Given the description of an element on the screen output the (x, y) to click on. 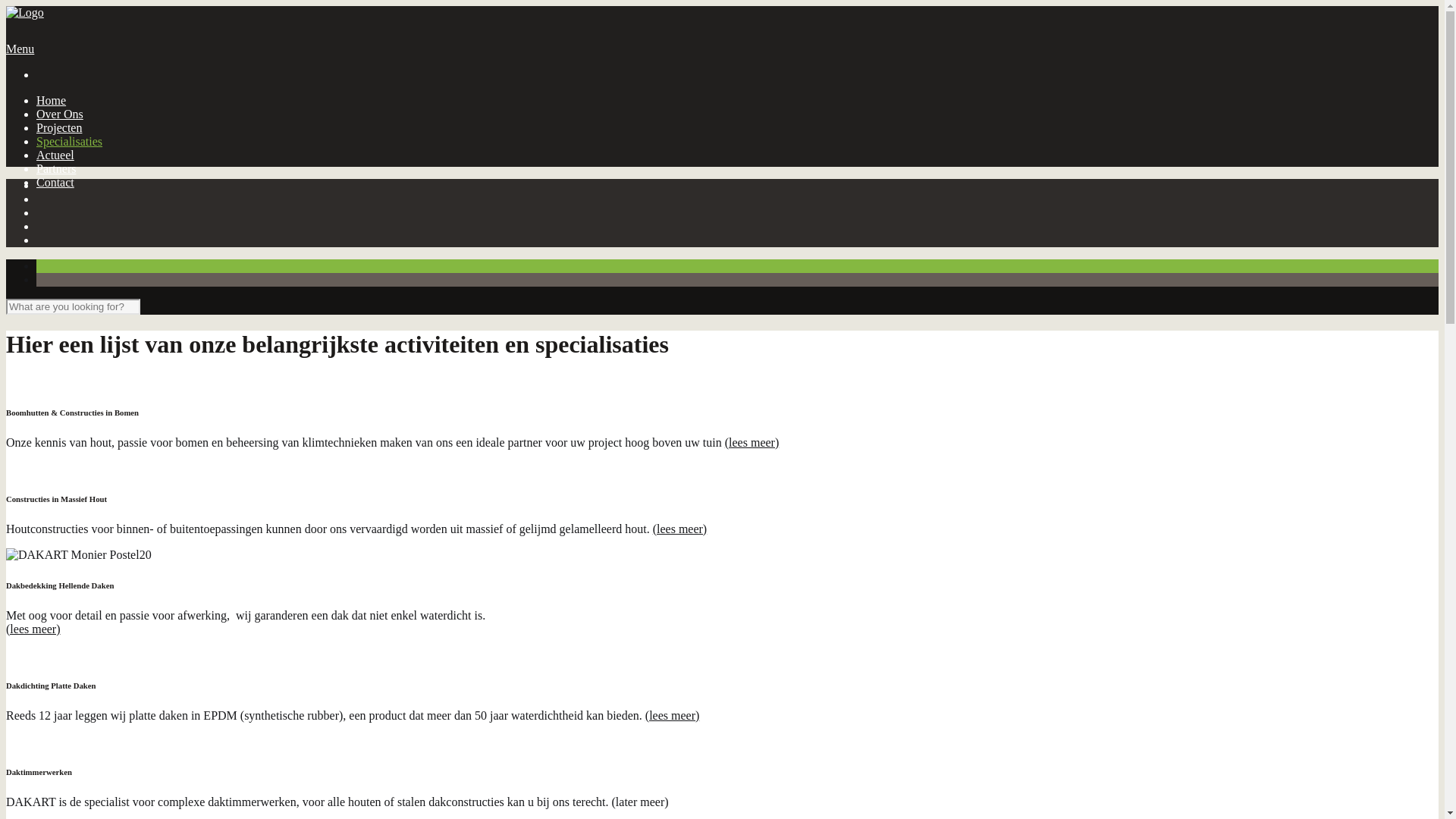
Over Ons Element type: text (59, 113)
(lees meer) Element type: text (672, 715)
Actueel Element type: text (55, 154)
(lees meer) Element type: text (33, 628)
(lees meer) Element type: text (679, 528)
(lees meer) Element type: text (751, 442)
Partners Element type: text (55, 168)
Contact Element type: text (55, 181)
Home Element type: text (50, 100)
Menu Element type: text (20, 48)
Projecten Element type: text (58, 127)
Specialisaties Element type: text (69, 140)
